Given the description of an element on the screen output the (x, y) to click on. 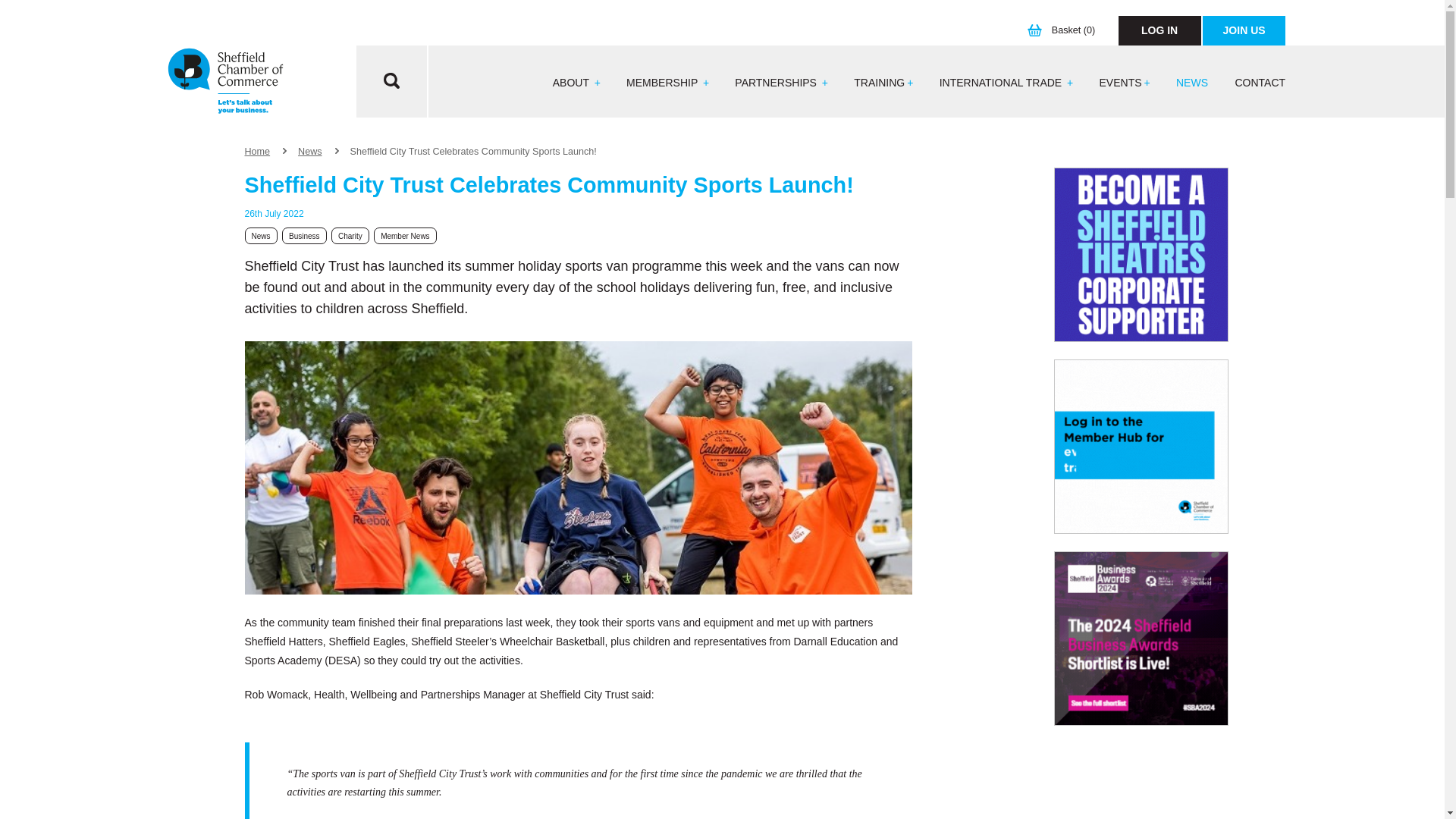
LOG IN (1159, 30)
View Your Basket (1064, 30)
ABOUT (576, 83)
JOIN US (1243, 30)
Log In (1159, 30)
Join Us (1243, 30)
Sheffield Chamber (225, 81)
About (576, 83)
